Given the description of an element on the screen output the (x, y) to click on. 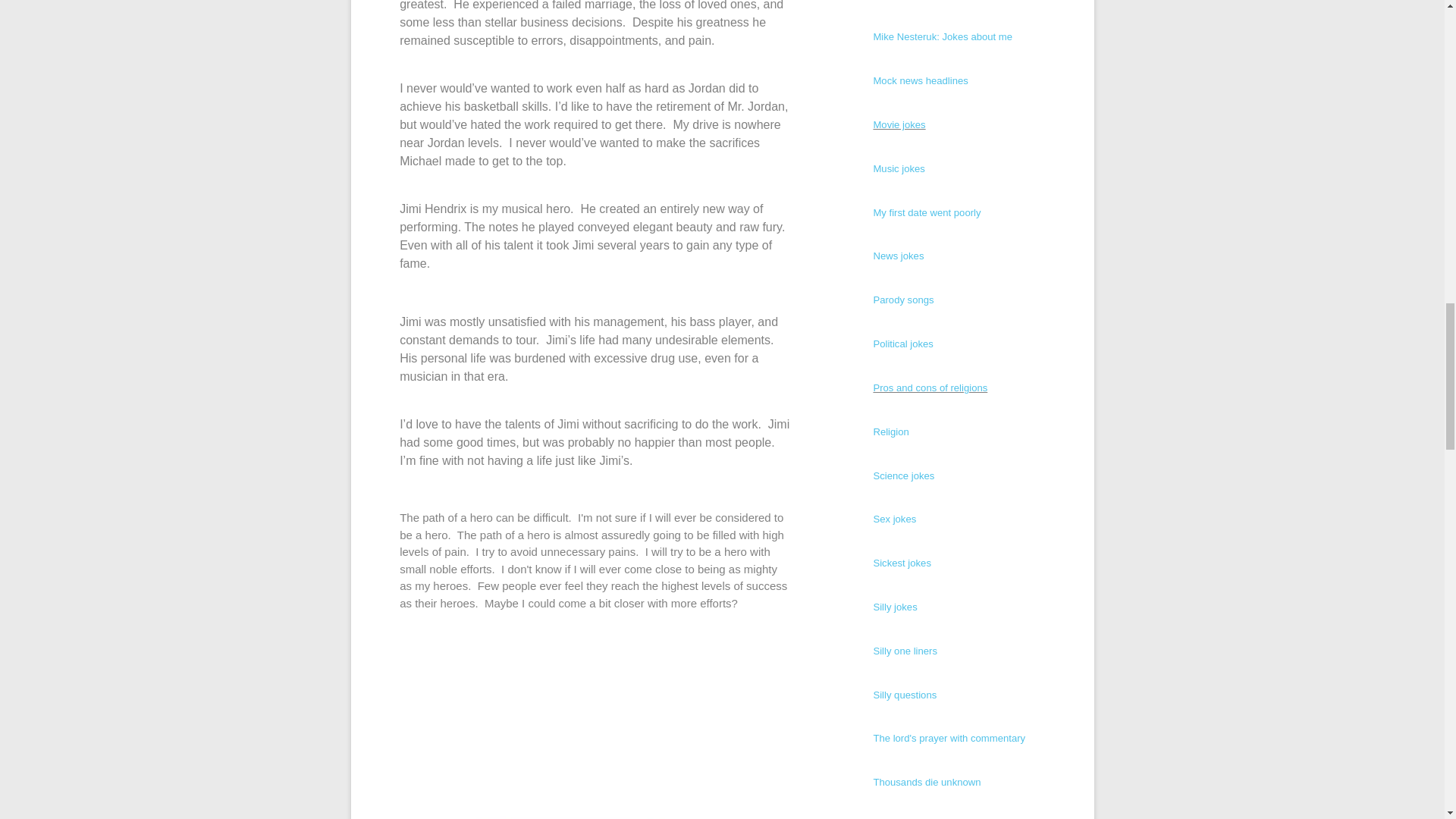
News jokes (897, 255)
My first date went poorly (925, 212)
Music jokes (898, 168)
Sex jokes (893, 518)
Mike Nesteruk: Jokes about me (941, 36)
Thousands die unknown (925, 781)
Religion (890, 431)
Science jokes (903, 475)
Sickest jokes (901, 562)
Pros and cons of religions (929, 387)
